Given the description of an element on the screen output the (x, y) to click on. 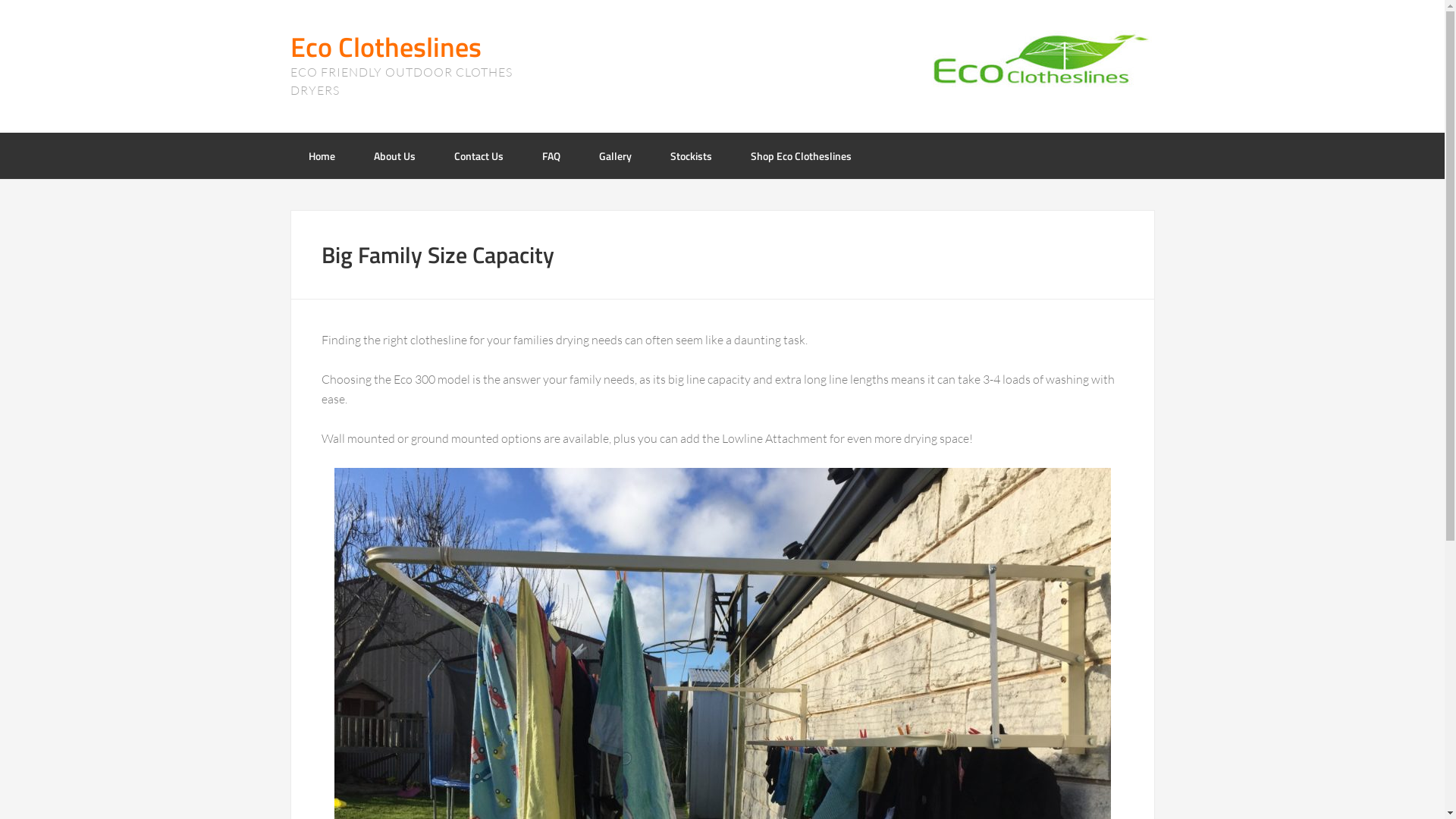
FAQ Element type: text (550, 155)
About Us Element type: text (393, 155)
Stockists Element type: text (691, 155)
Eco Clotheslines Element type: text (384, 46)
Gallery Element type: text (614, 155)
Contact Us Element type: text (477, 155)
Shop Eco Clotheslines Element type: text (800, 155)
Home Element type: text (320, 155)
